Given the description of an element on the screen output the (x, y) to click on. 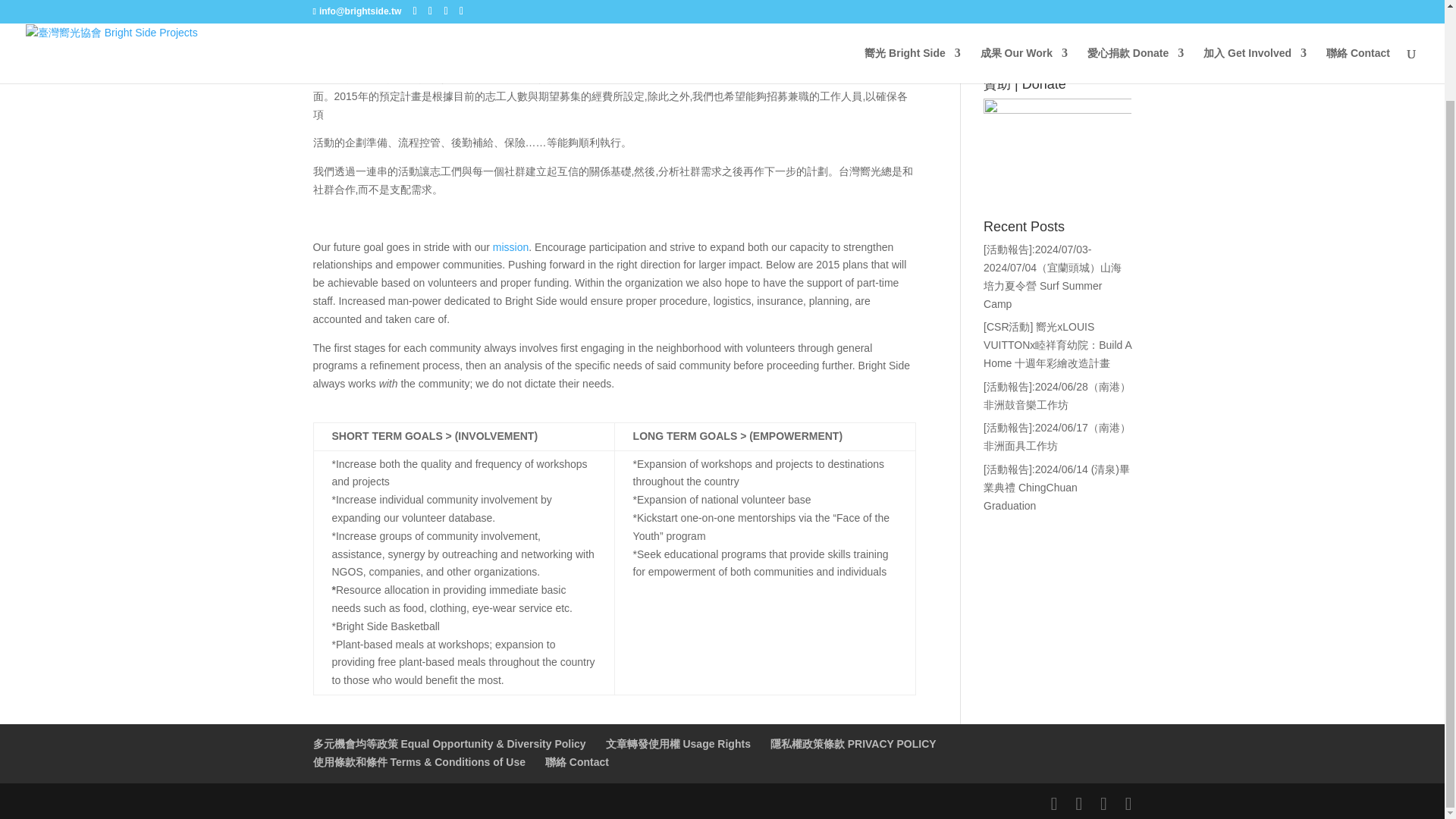
mission (510, 246)
Search (1106, 39)
Search (1106, 39)
